Given the description of an element on the screen output the (x, y) to click on. 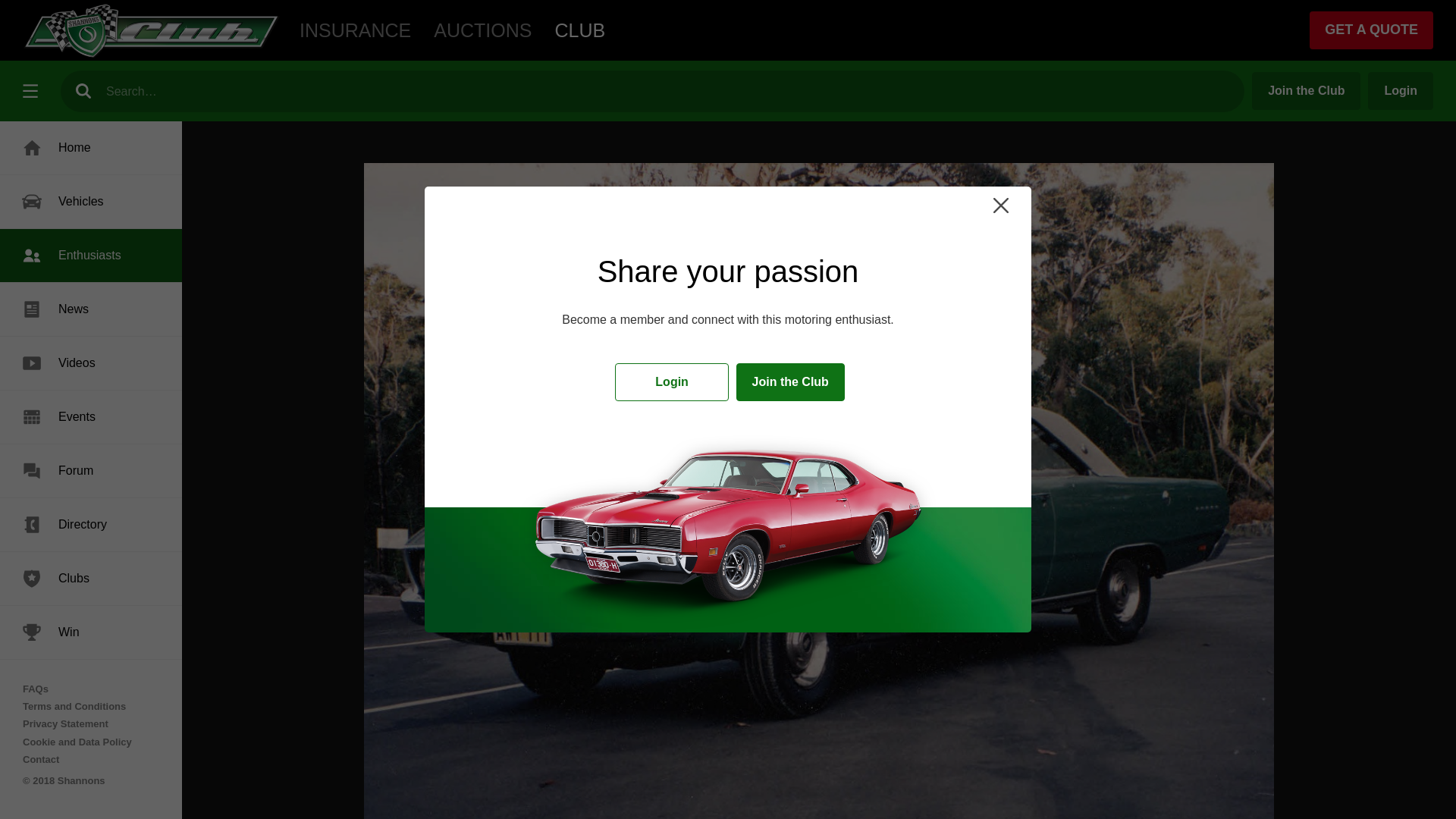
Shannons Auctions (482, 29)
Shannons Club Home (152, 30)
AUCTIONS (482, 29)
Forum (91, 470)
Shannons Insurance (354, 29)
Login (1400, 90)
CLUB (579, 29)
Clubs (91, 578)
Directory (91, 524)
Vehicles (91, 201)
Events (91, 416)
INSURANCE (354, 29)
GET A QUOTE (1370, 30)
Shannons Club Home (579, 29)
